Given the description of an element on the screen output the (x, y) to click on. 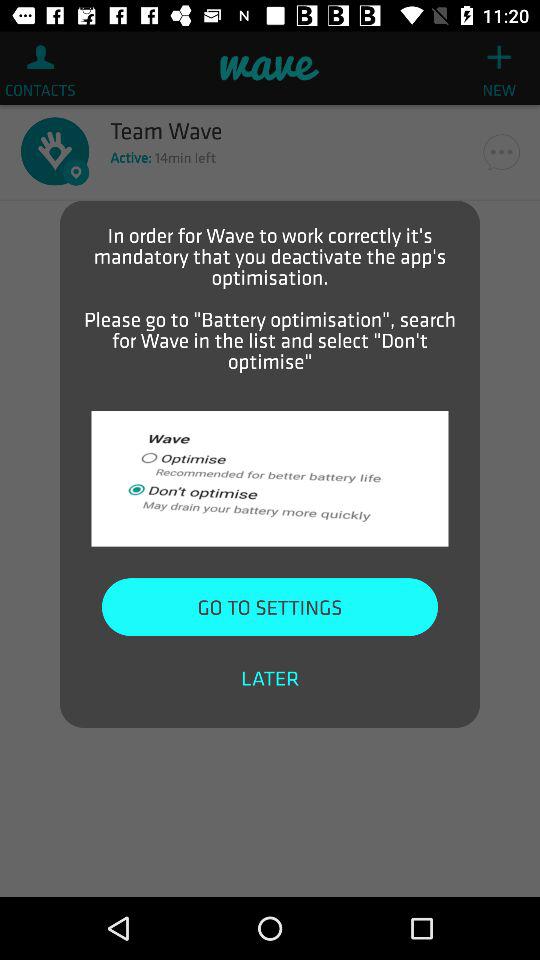
press the icon at the top (270, 297)
